Given the description of an element on the screen output the (x, y) to click on. 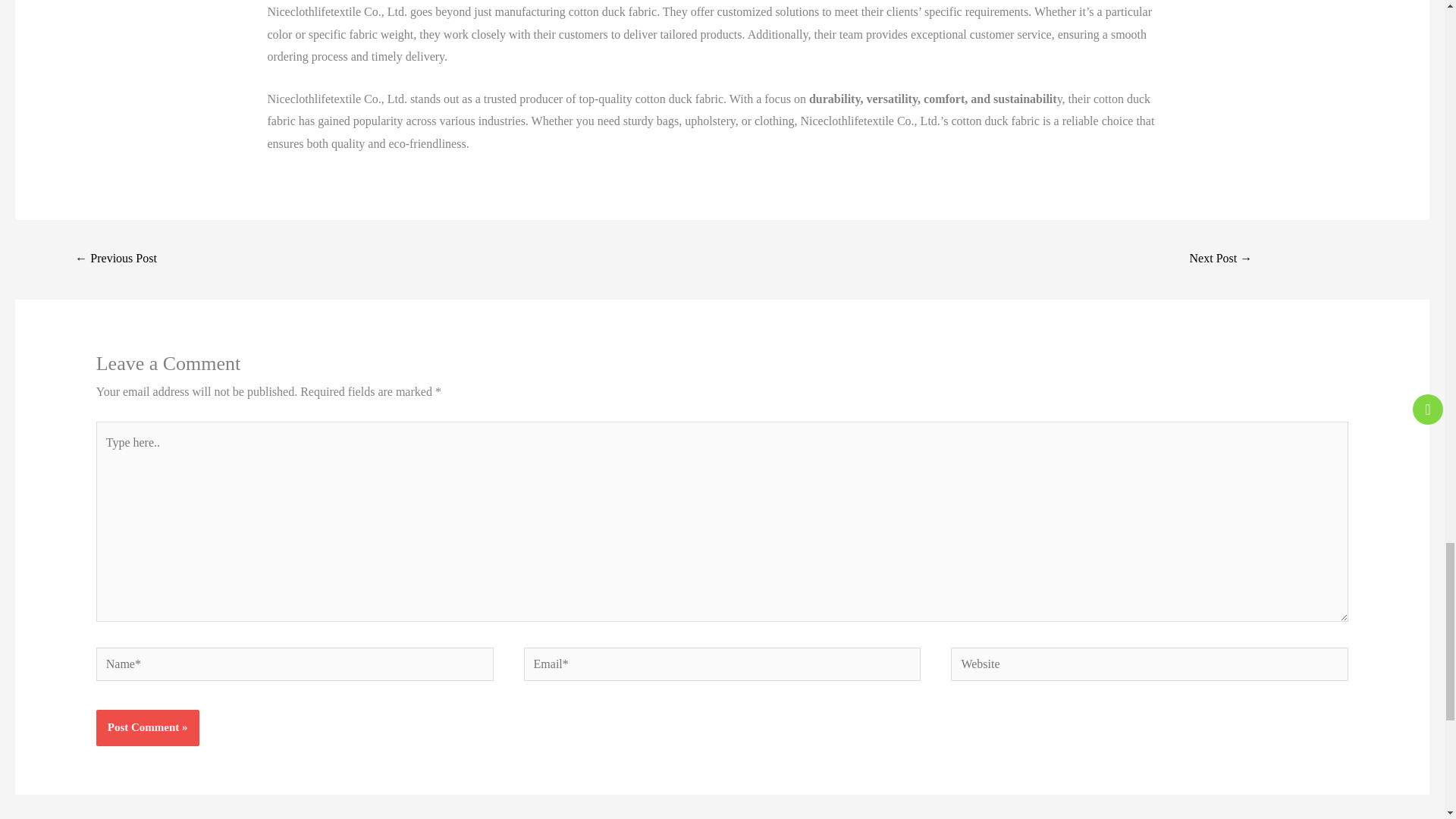
twill cotton canvas high quality (1220, 259)
16oz pigment washed canvas (115, 259)
